Given the description of an element on the screen output the (x, y) to click on. 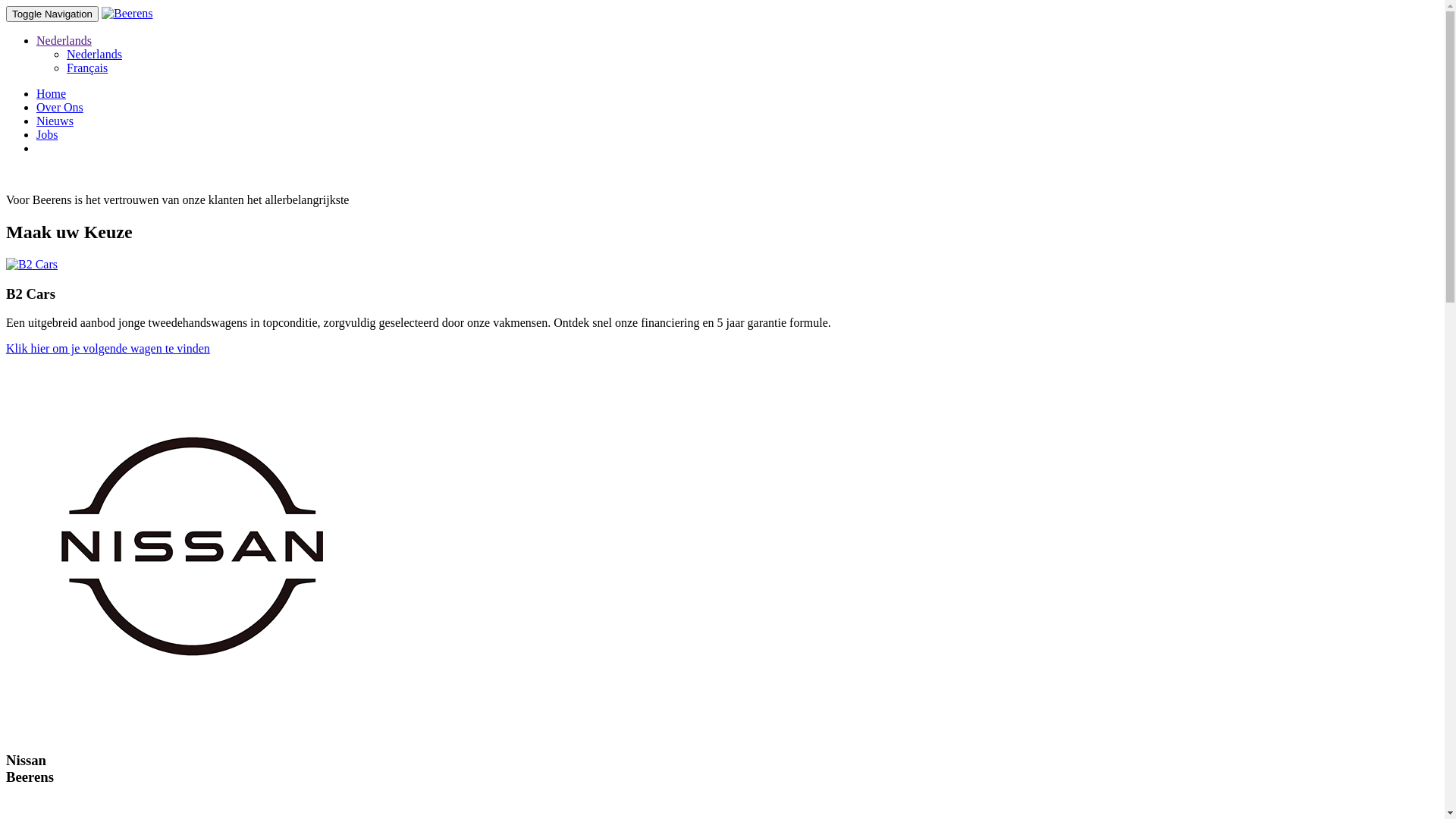
Nissan Beerens Element type: hover (195, 544)
Over Ons Element type: text (59, 106)
Toggle Navigation Element type: text (52, 13)
Jobs Element type: text (46, 134)
Beerens Element type: hover (127, 13)
Nieuws Element type: text (54, 120)
Klik hier om je volgende wagen te vinden Element type: text (108, 348)
Nederlands Element type: text (63, 40)
Nederlands Element type: text (94, 53)
Home Element type: text (50, 93)
B2 Cars Element type: hover (31, 264)
